Given the description of an element on the screen output the (x, y) to click on. 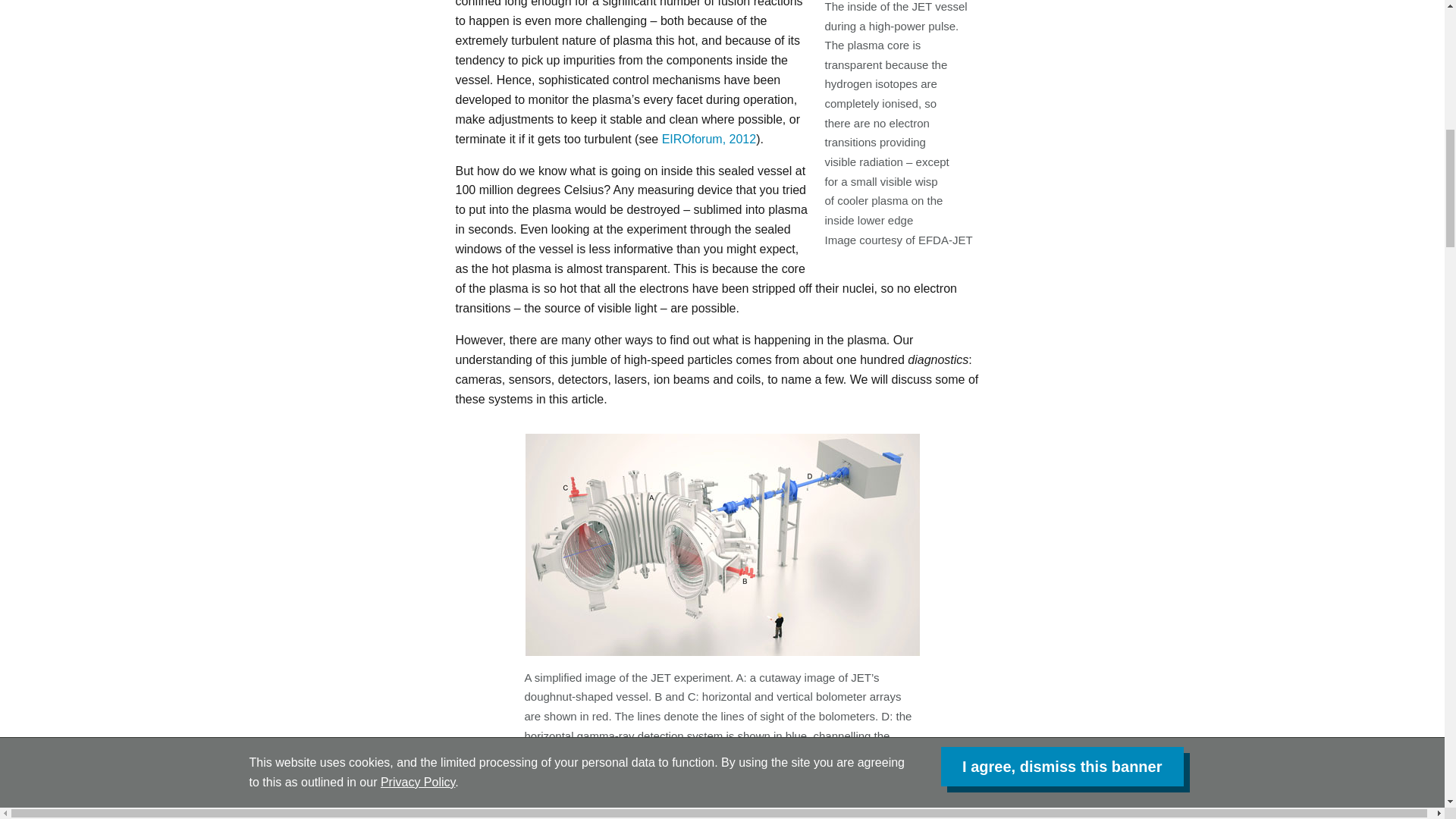
EIROforum, 2012 (709, 138)
